Given the description of an element on the screen output the (x, y) to click on. 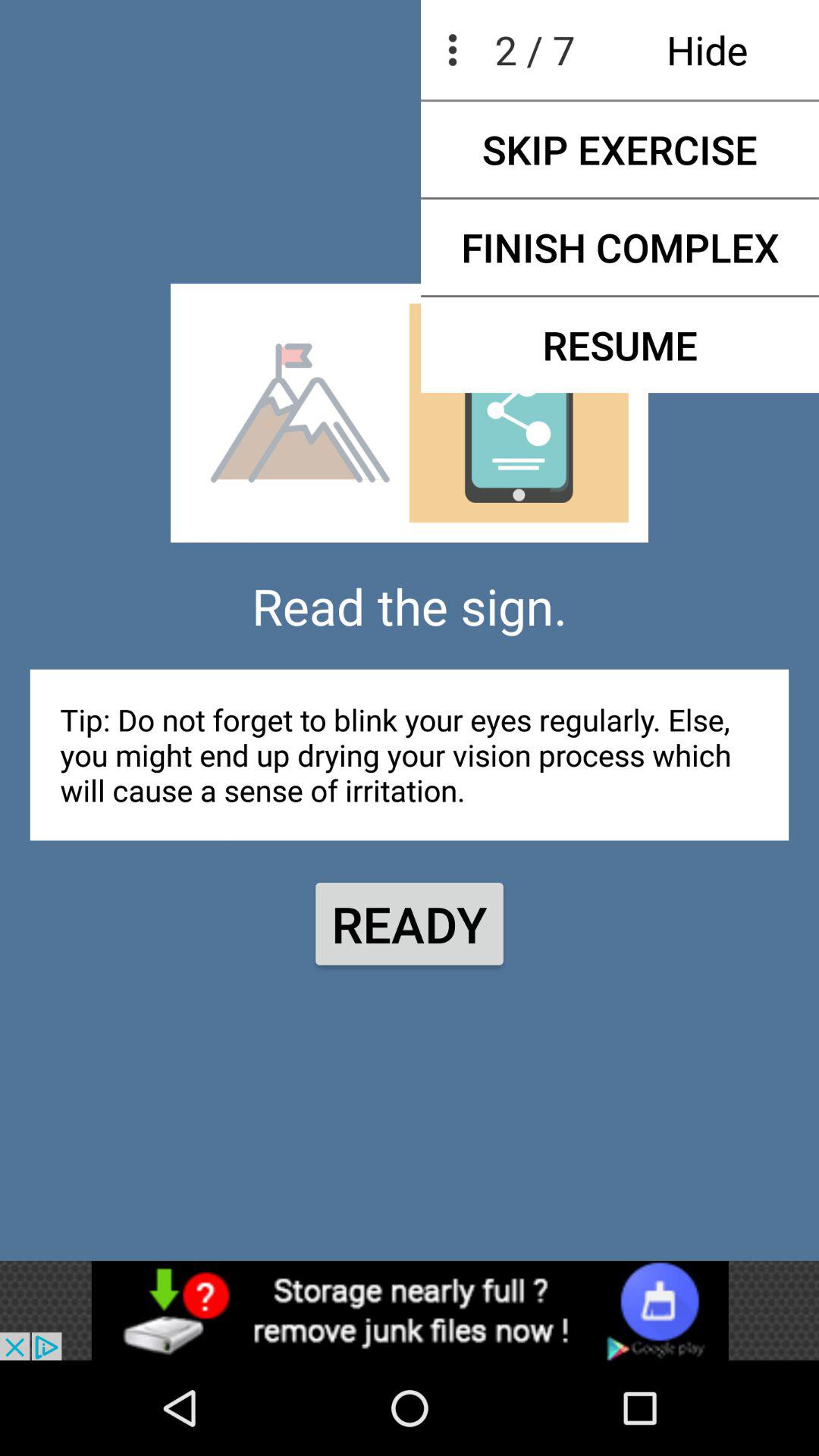
menu bar (409, 1310)
